Given the description of an element on the screen output the (x, y) to click on. 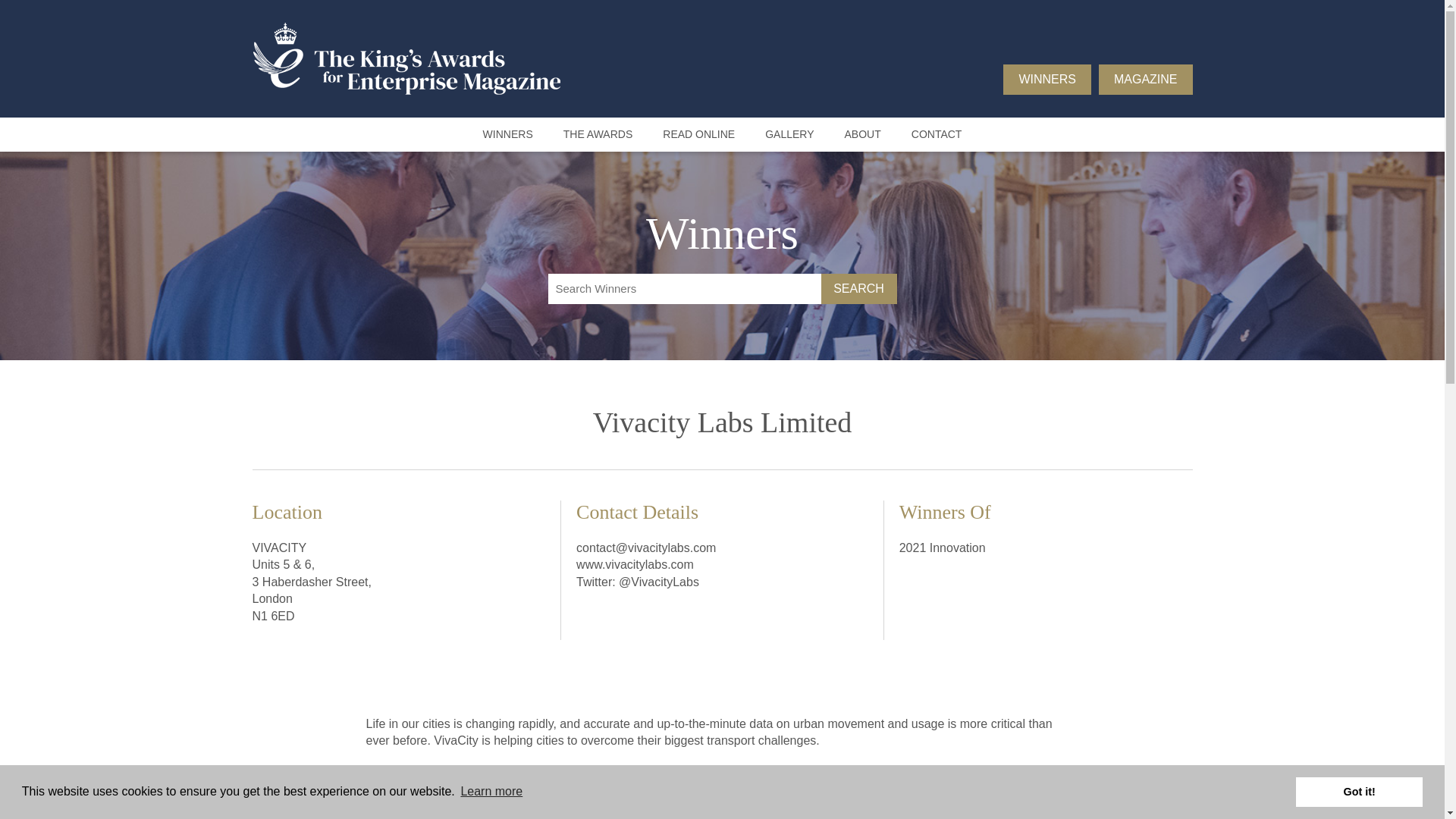
WINNERS (1046, 79)
ABOUT (862, 134)
CONTACT (936, 134)
READ ONLINE (698, 134)
GALLERY (789, 134)
Got it! (1358, 791)
MAGAZINE (1145, 79)
WINNERS (507, 134)
Learn more (491, 791)
SEARCH (858, 287)
